Given the description of an element on the screen output the (x, y) to click on. 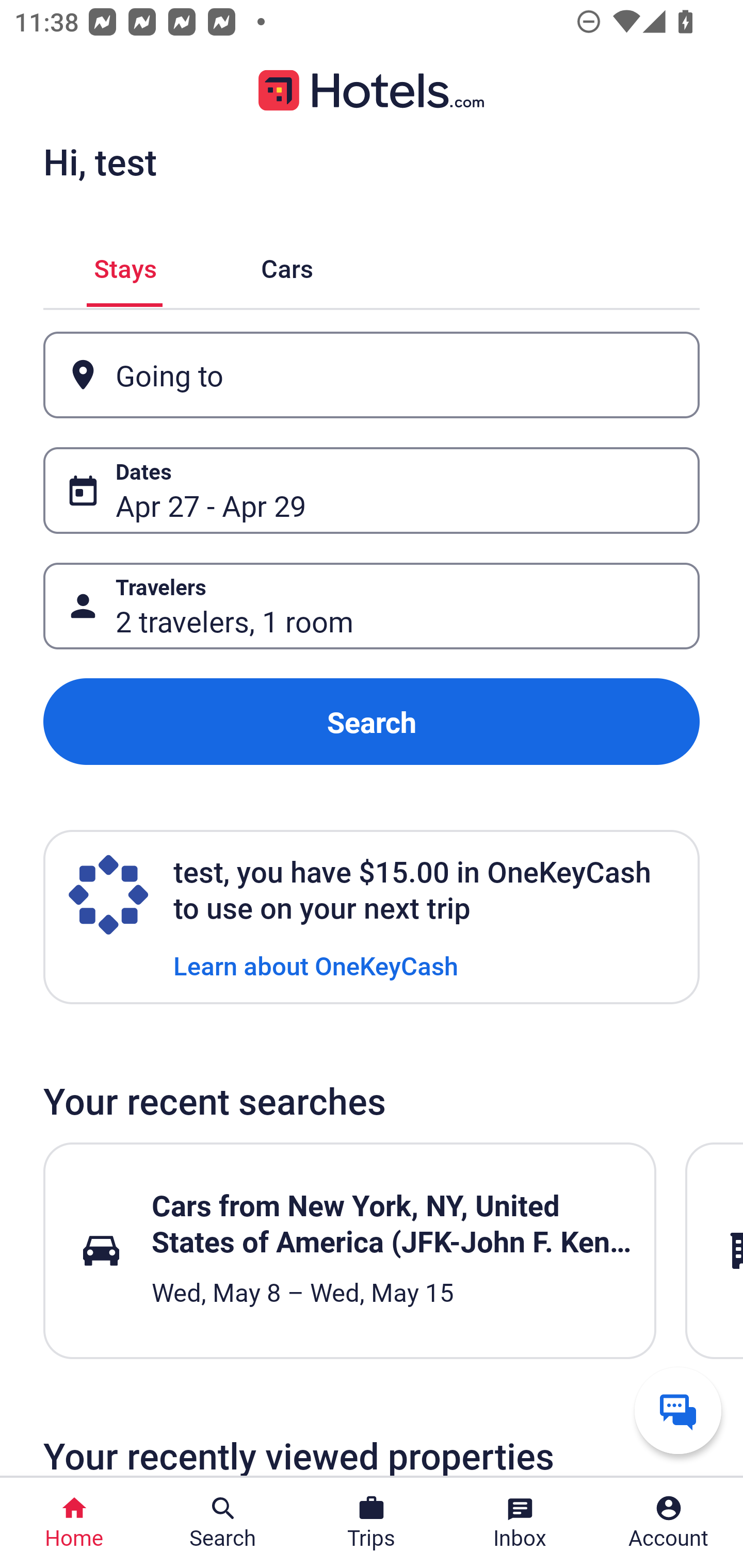
Hi, test (99, 161)
Cars (286, 265)
Going to Button (371, 375)
Dates Button Apr 27 - Apr 29 (371, 489)
Travelers Button 2 travelers, 1 room (371, 605)
Search (371, 721)
Learn about OneKeyCash Learn about OneKeyCash Link (315, 964)
Get help from a virtual agent (677, 1410)
Search Search Button (222, 1522)
Trips Trips Button (371, 1522)
Inbox Inbox Button (519, 1522)
Account Profile. Button (668, 1522)
